Given the description of an element on the screen output the (x, y) to click on. 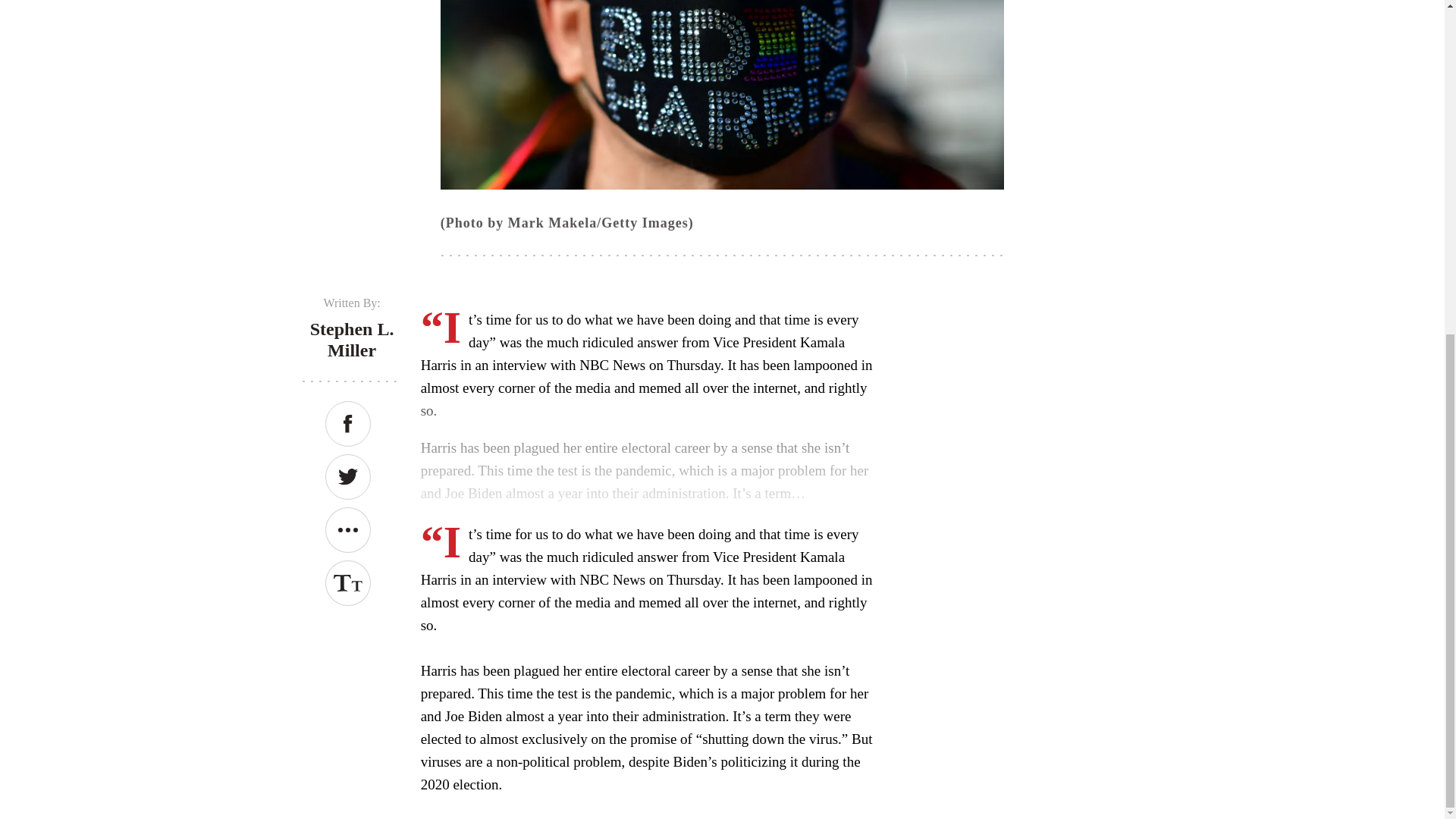
Stephen L. Miller (352, 339)
